Given the description of an element on the screen output the (x, y) to click on. 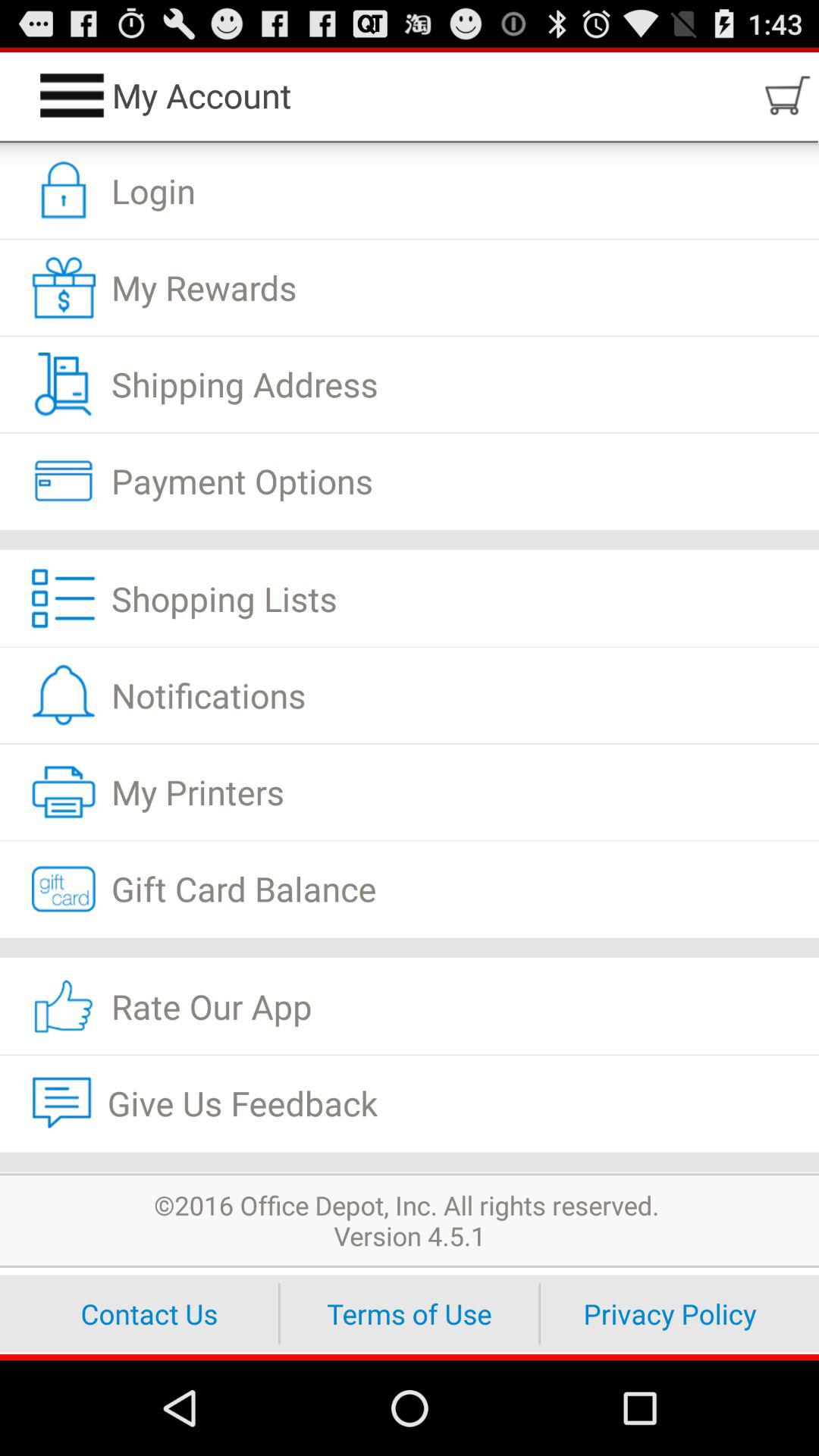
swipe to the contact us item (148, 1313)
